Given the description of an element on the screen output the (x, y) to click on. 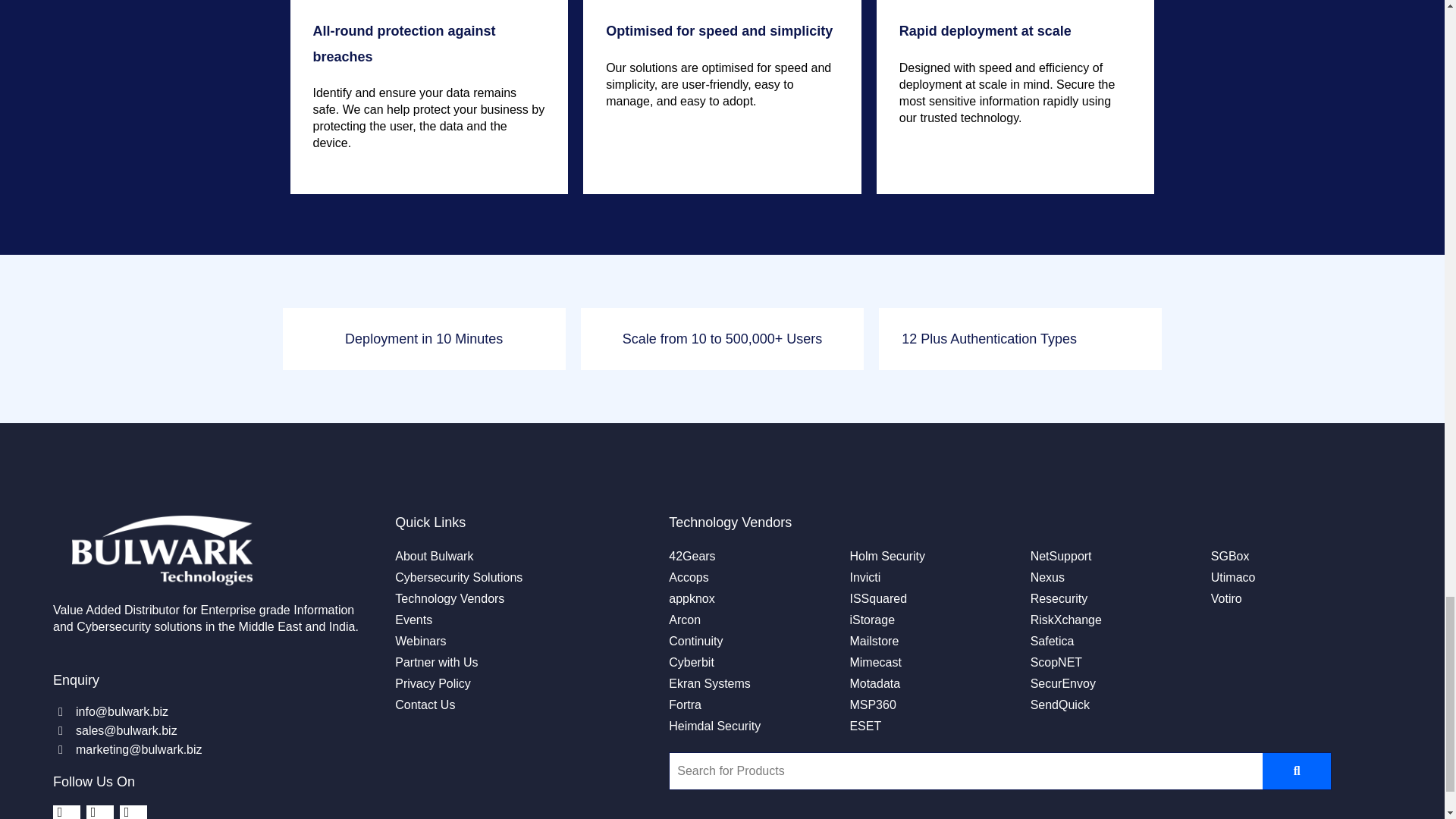
Arcon (684, 619)
42Gears (691, 556)
Accops (687, 577)
appknox (691, 598)
Icon-twitter (99, 812)
Cybersecurity Solutions (458, 577)
About Bulwark (433, 556)
Search (965, 770)
Continuity (695, 640)
Events (413, 619)
Contact Us (424, 704)
Linkedin-in (66, 812)
Partner with Us (435, 662)
Webinars (419, 640)
Privacy Policy (432, 683)
